Given the description of an element on the screen output the (x, y) to click on. 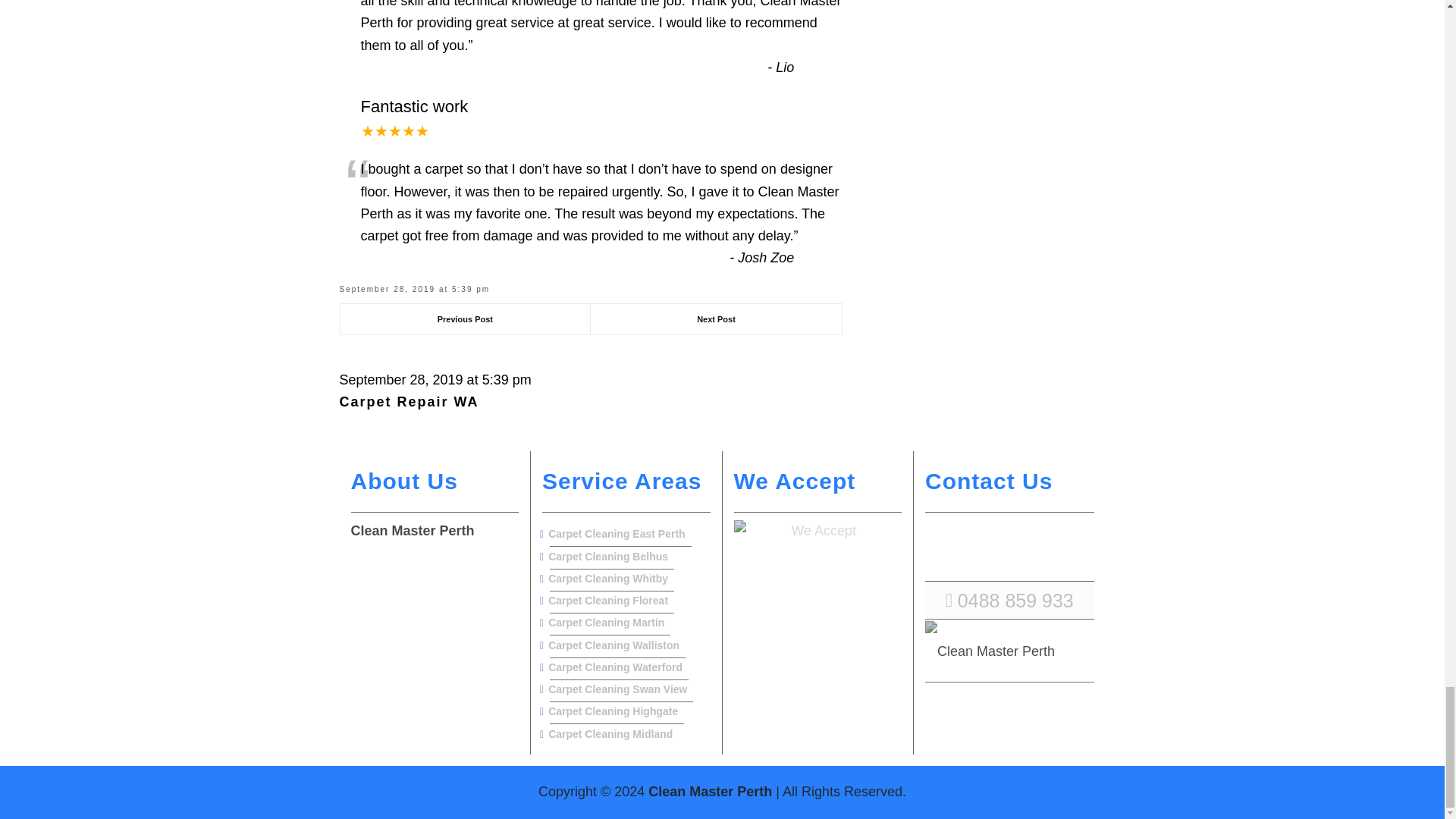
Carpet Repair WA (409, 402)
Previous Post (465, 318)
Next Post (716, 318)
